Given the description of an element on the screen output the (x, y) to click on. 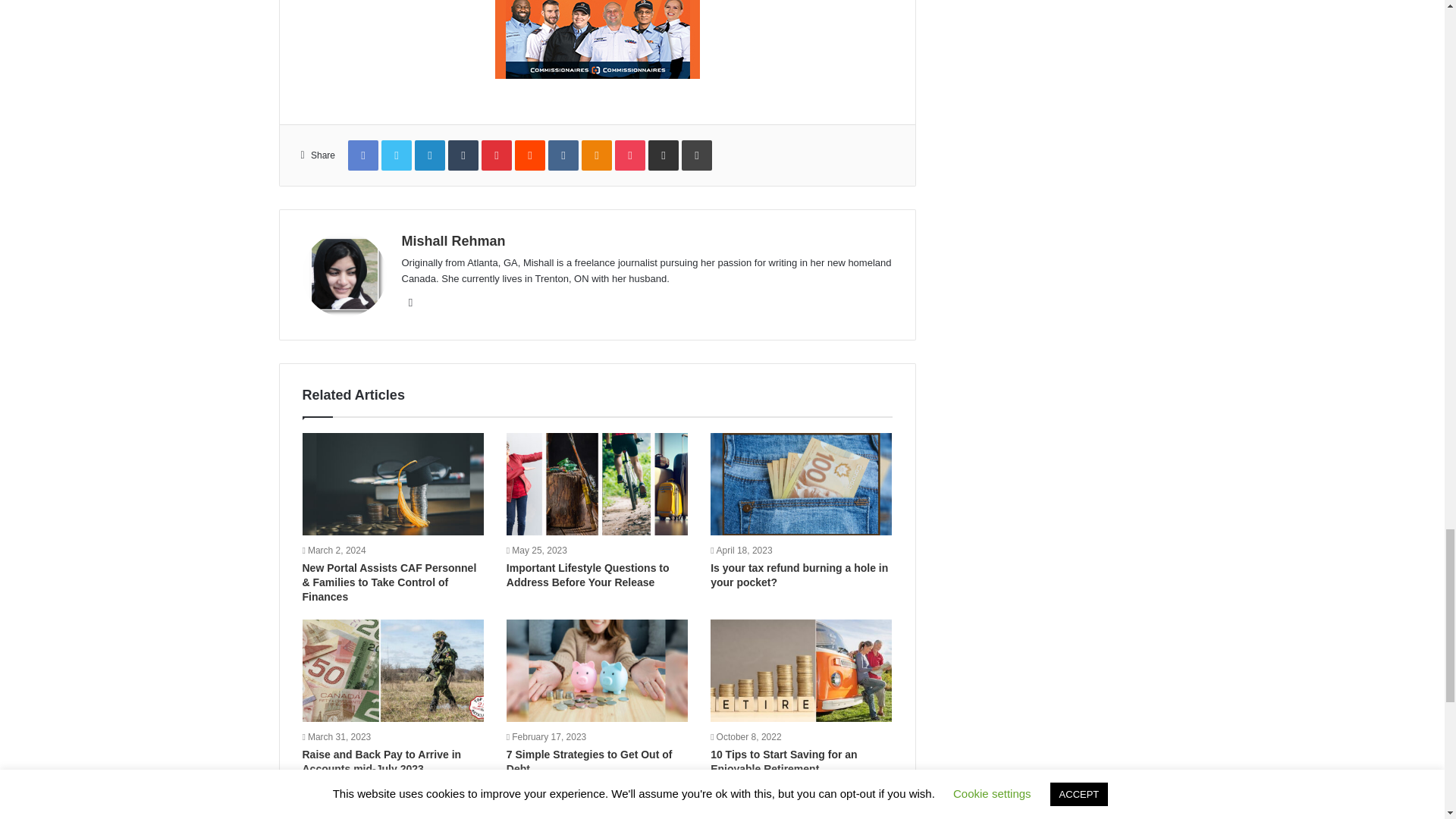
10 Tips to Start Saving for an Enjoyable Retirement (783, 761)
Is your tax refund burning a hole in your pocket? (799, 574)
7 Simple Strategies to Get Out of Debt (589, 761)
Important Lifestyle Questions to Address Before Your Release (587, 574)
Raise and Back Pay to Arrive in Accounts mid-July 2023 (381, 761)
